Given the description of an element on the screen output the (x, y) to click on. 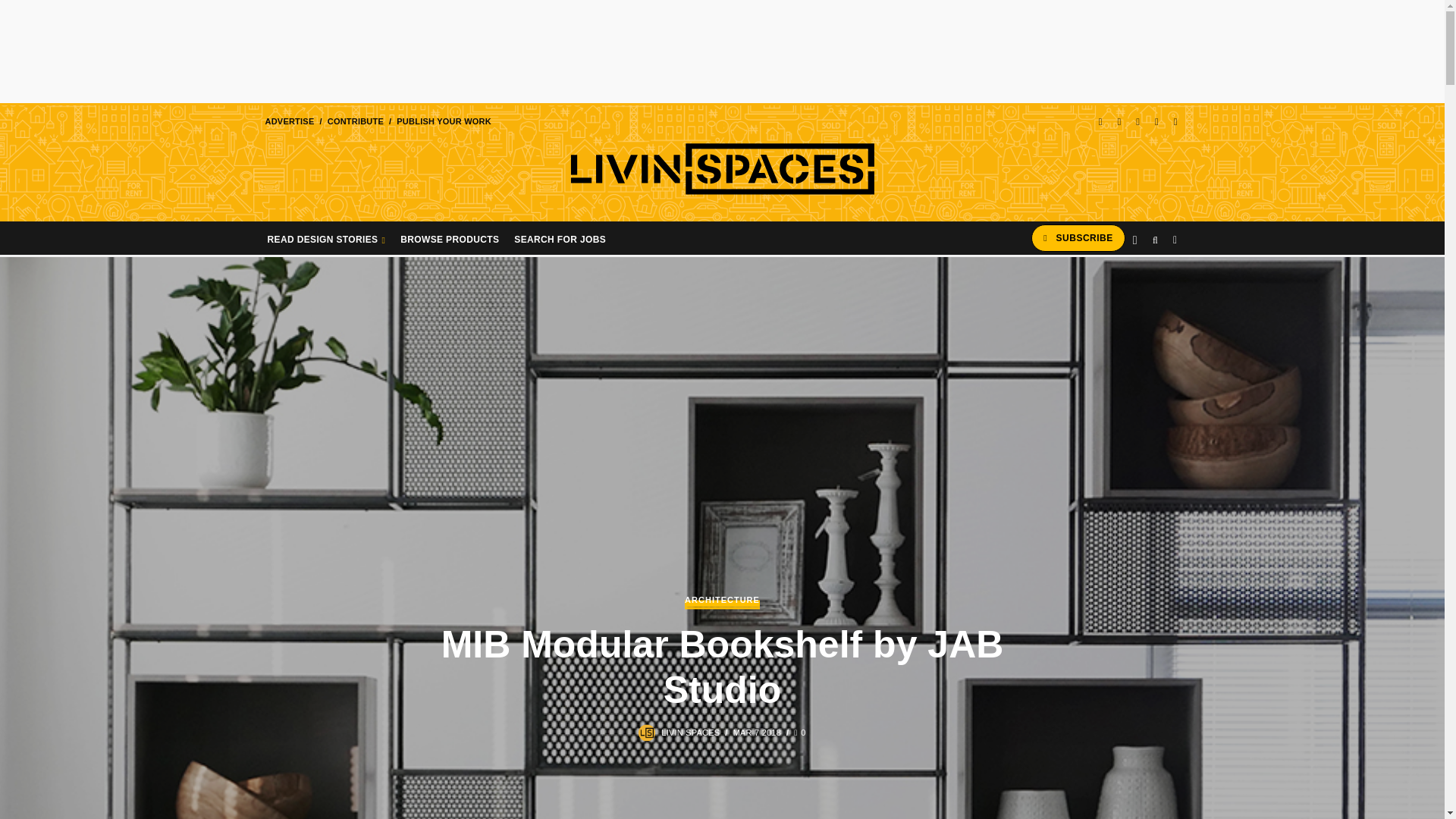
ADVERTISE (288, 120)
SUBSCRIBE (1078, 237)
BROWSE PRODUCTS (449, 237)
READ DESIGN STORIES (326, 237)
CONTRIBUTE (354, 120)
SEARCH FOR JOBS (559, 237)
PUBLISH YOUR WORK (443, 120)
